Given the description of an element on the screen output the (x, y) to click on. 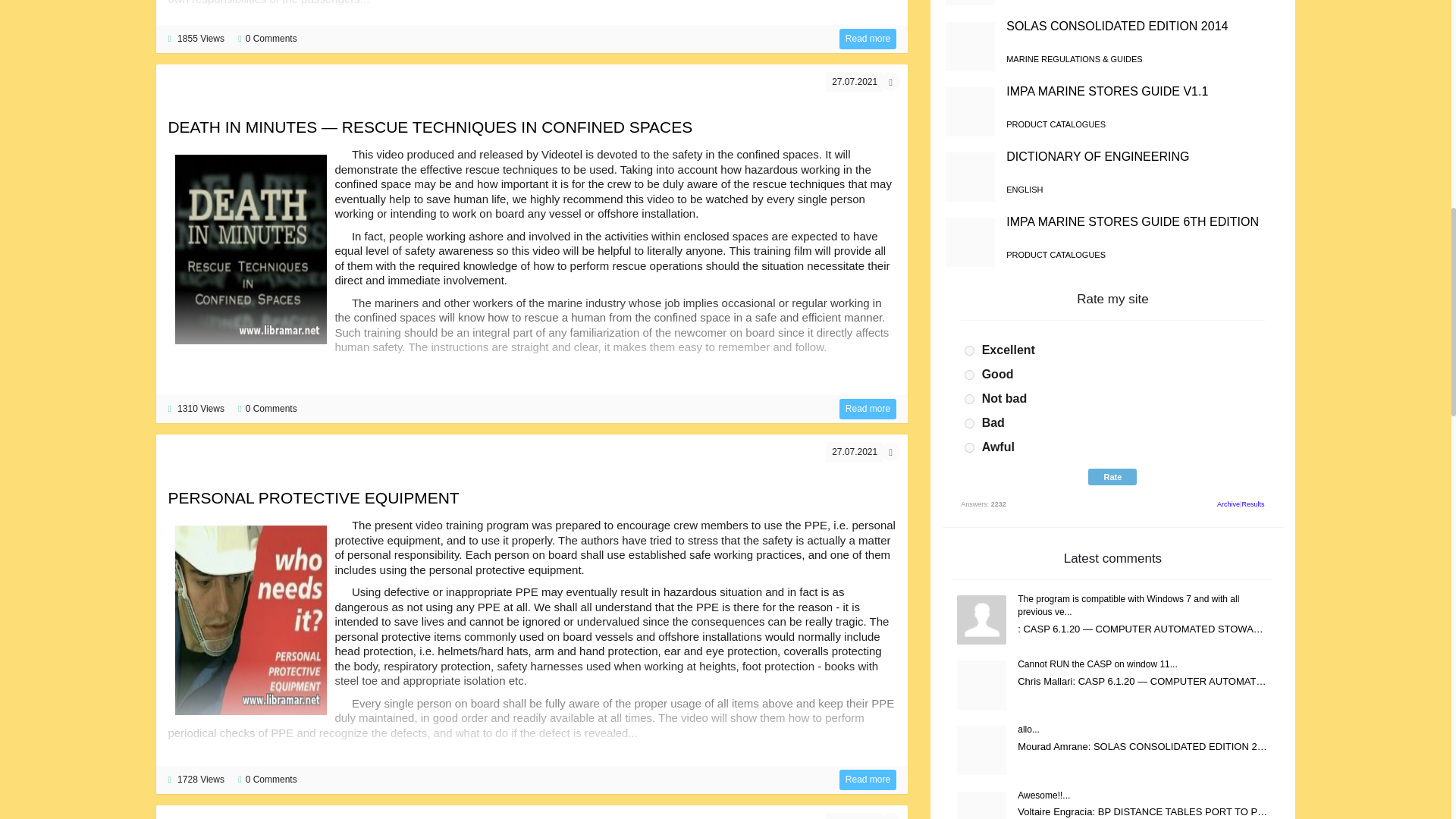
PERSONAL PROTECTIVE EQUIPMENT (868, 779)
3 (968, 398)
Rate (1112, 476)
1 (968, 350)
PERSONAL PROTECTIVE EQUIPMENT (312, 497)
HELICOPTER OPERATIONS AT SEA (868, 38)
5 (968, 447)
2 (968, 375)
4 (968, 423)
